Given the description of an element on the screen output the (x, y) to click on. 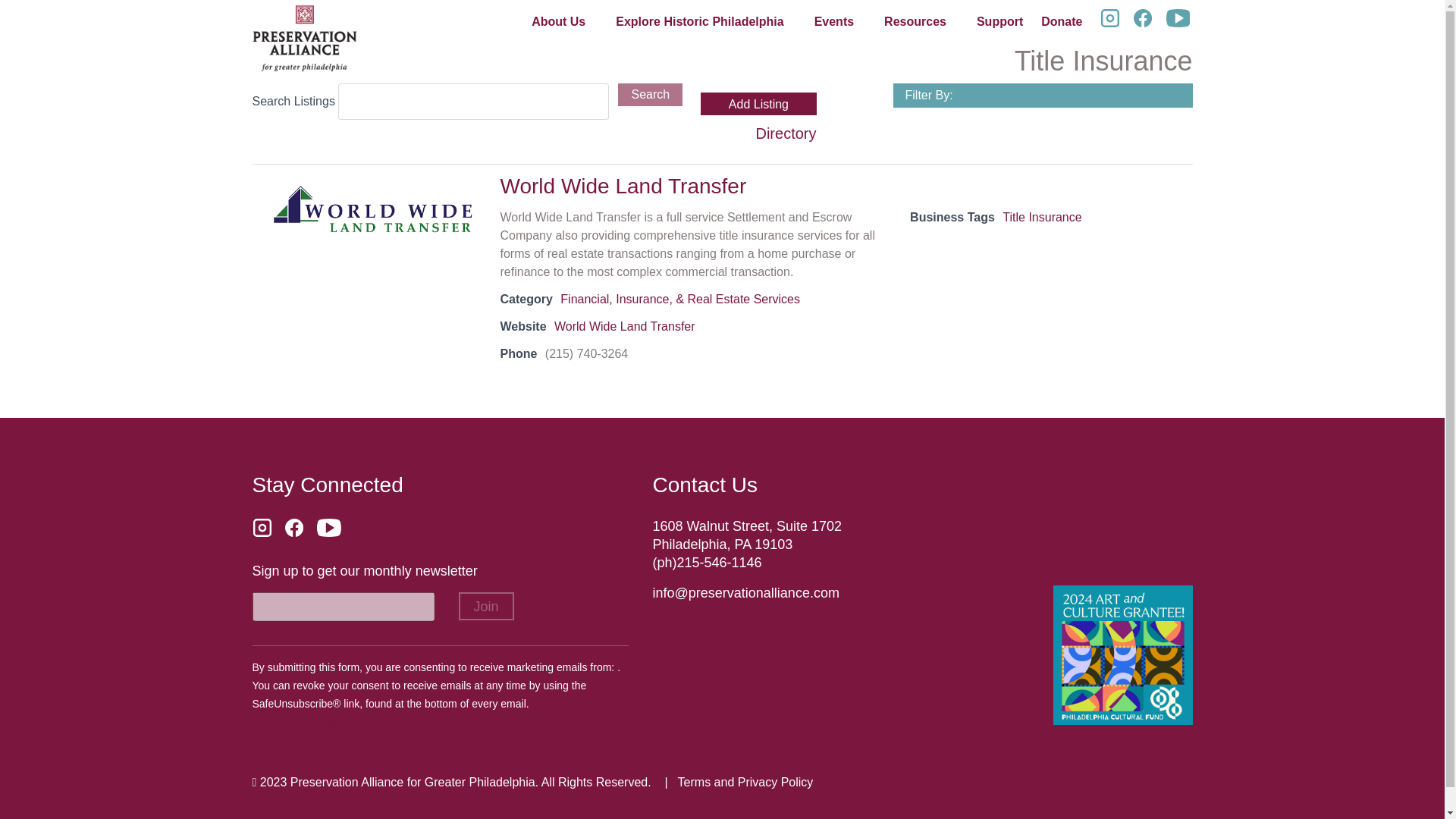
World Wide Land Transfer (372, 209)
Join (485, 605)
Quick search keywords (472, 101)
Search (649, 94)
World Wide Land Transfer (624, 326)
About Us (558, 24)
